Given the description of an element on the screen output the (x, y) to click on. 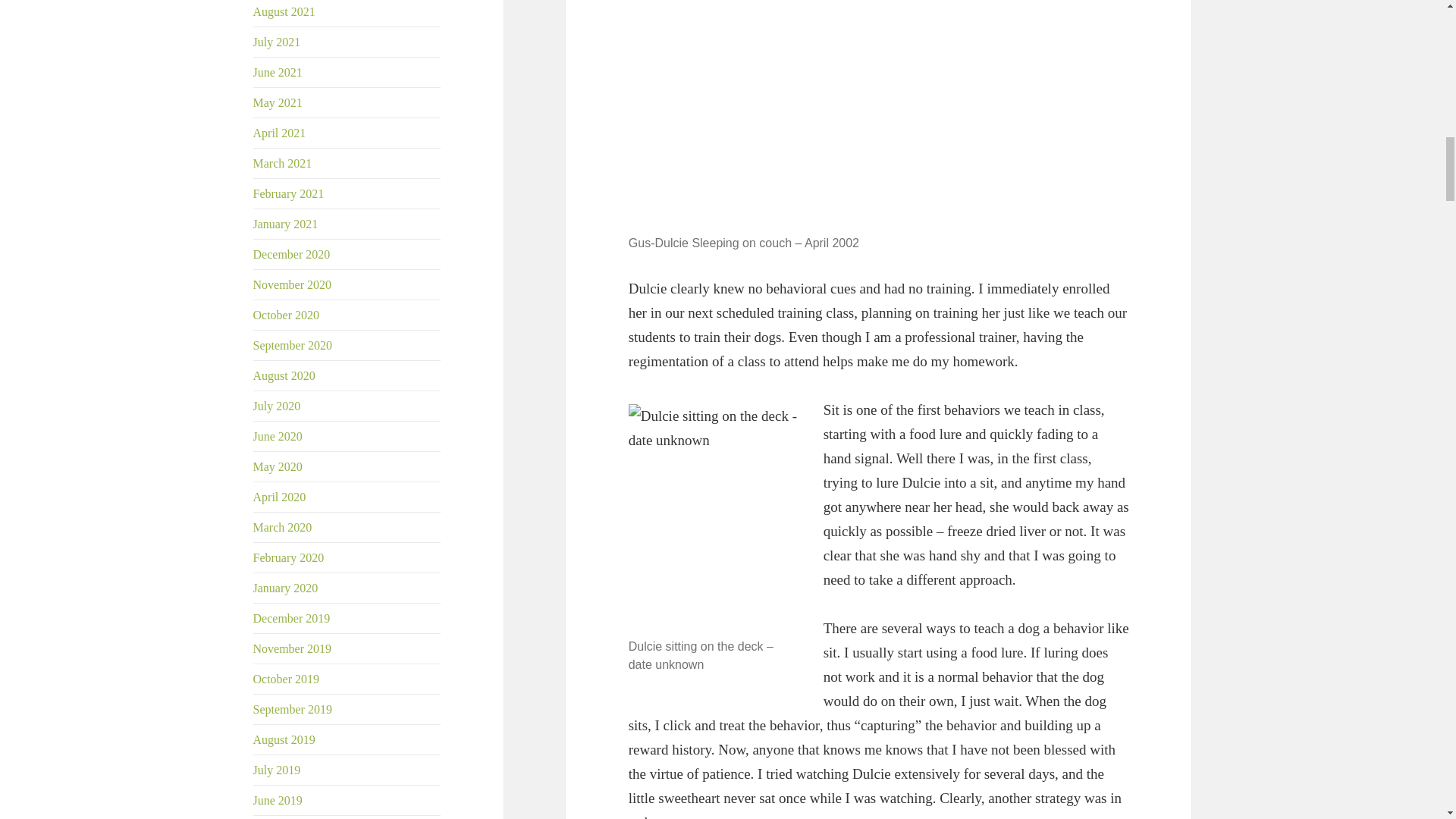
January 2021 (285, 223)
April 2021 (279, 132)
March 2021 (283, 163)
October 2020 (286, 314)
February 2021 (288, 193)
July 2021 (277, 42)
May 2021 (277, 102)
August 2021 (284, 11)
November 2020 (292, 284)
June 2021 (277, 72)
